Given the description of an element on the screen output the (x, y) to click on. 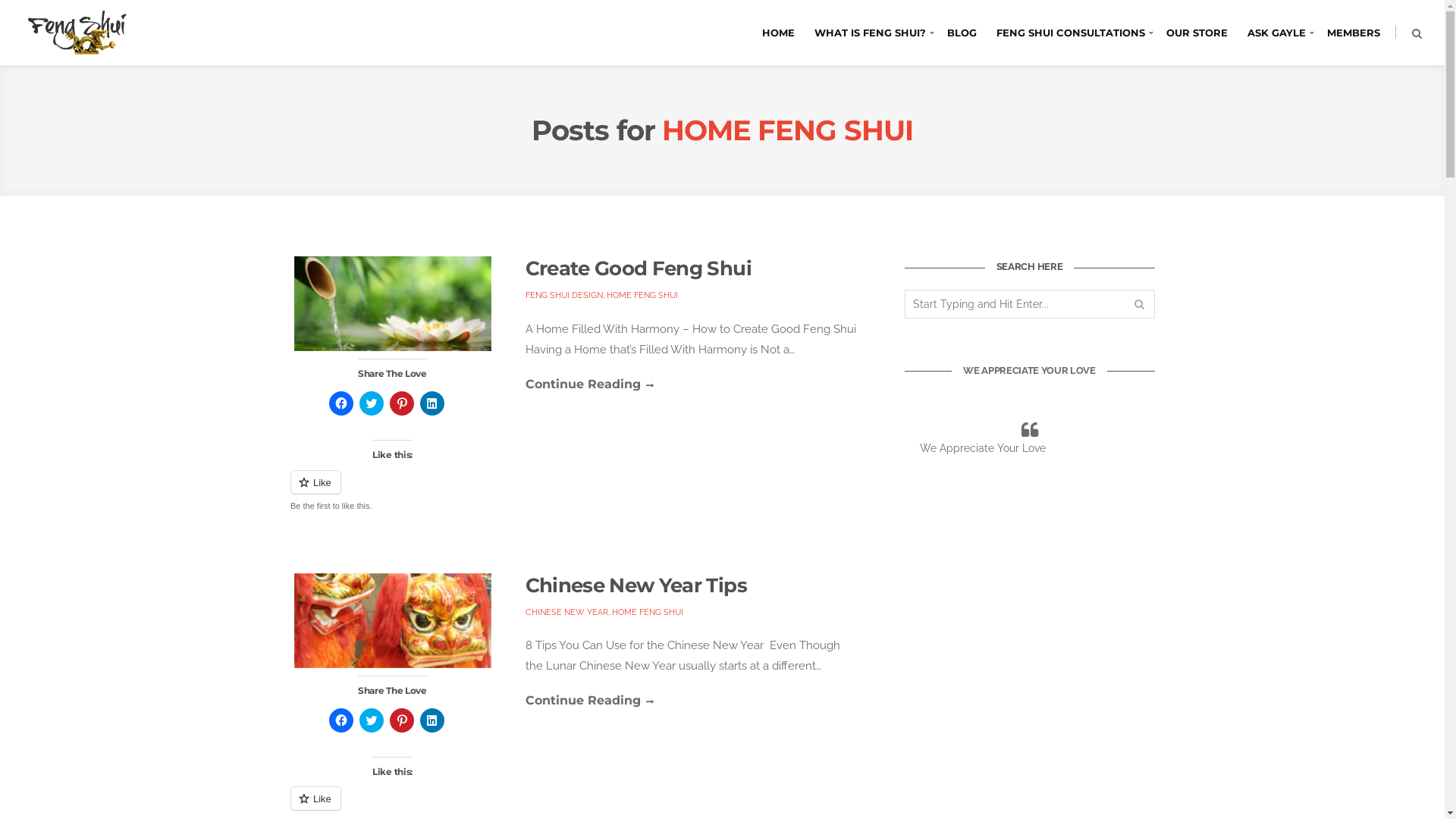
WHAT IS FENG SHUI? Element type: text (869, 32)
Chinese New Year Tips Element type: text (635, 585)
Click to share on Twitter (Opens in new window) Element type: text (371, 403)
ASK GAYLE Element type: text (1276, 32)
MEMBERS Element type: text (1353, 32)
Like or Reblog Element type: hover (391, 490)
Click to share on Twitter (Opens in new window) Element type: text (371, 720)
OUR STORE Element type: text (1196, 32)
Click to share on LinkedIn (Opens in new window) Element type: text (432, 403)
We Appreciate Your Love Element type: text (981, 448)
Continue Reading Element type: text (588, 384)
FENG SHUI DESIGN Element type: text (563, 295)
HOME FENG SHUI Element type: text (646, 612)
HOME Element type: text (778, 32)
Click to share on Facebook (Opens in new window) Element type: text (341, 403)
FENG SHUI CONSULTATIONS Element type: text (1070, 32)
Click to share on Pinterest (Opens in new window) Element type: text (401, 720)
Create Good Feng Shui Element type: text (637, 268)
BLOG Element type: text (961, 32)
Click to share on Facebook (Opens in new window) Element type: text (341, 720)
HOME FENG SHUI Element type: text (641, 295)
Continue Reading Element type: text (588, 700)
CHINESE NEW YEAR Element type: text (565, 612)
WE APPRECIATE YOUR LOVE Element type: text (1029, 370)
Click to share on LinkedIn (Opens in new window) Element type: text (432, 720)
Click to share on Pinterest (Opens in new window) Element type: text (401, 403)
